Given the description of an element on the screen output the (x, y) to click on. 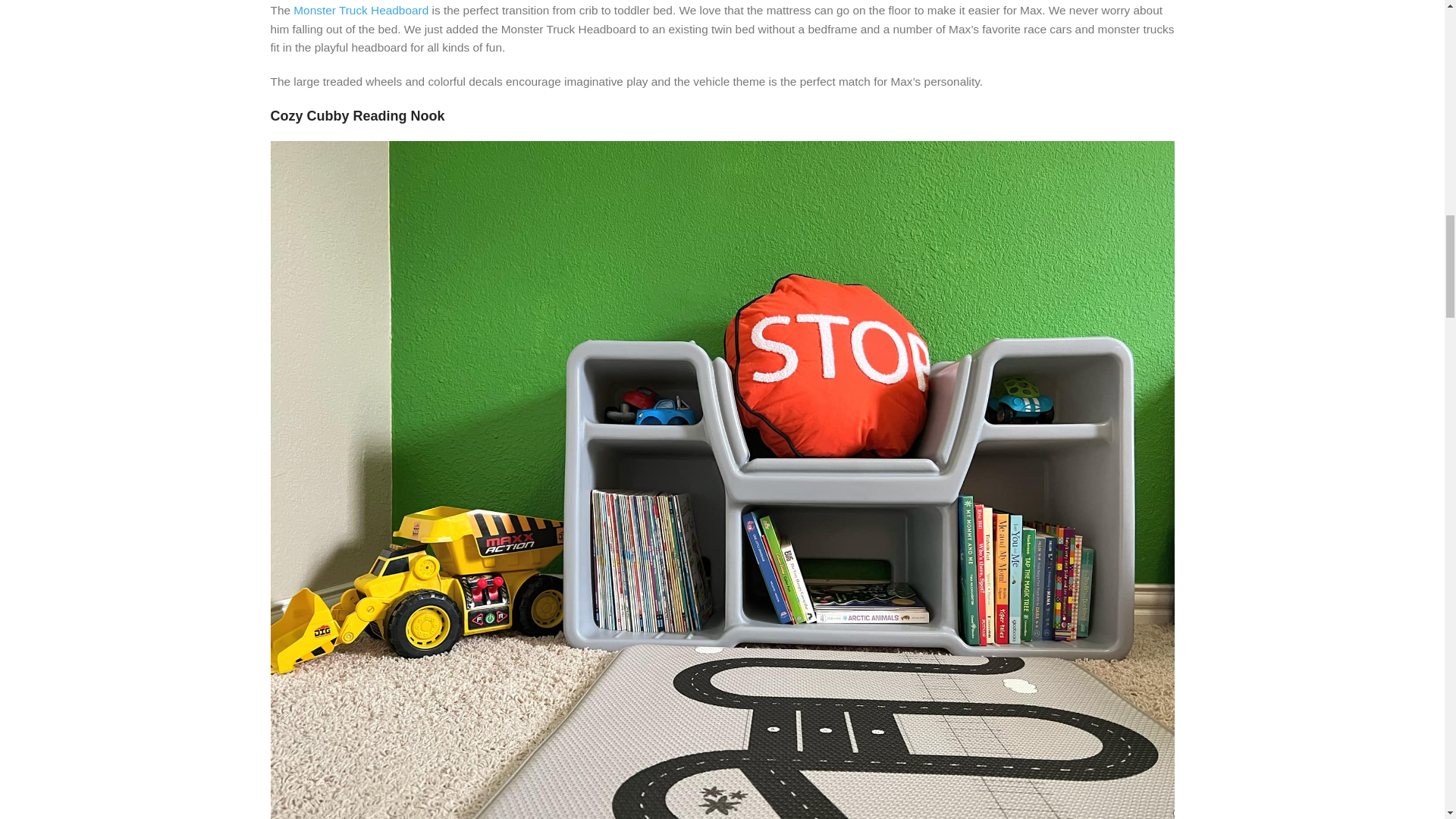
Monster Truck Headboard (361, 10)
